Given the description of an element on the screen output the (x, y) to click on. 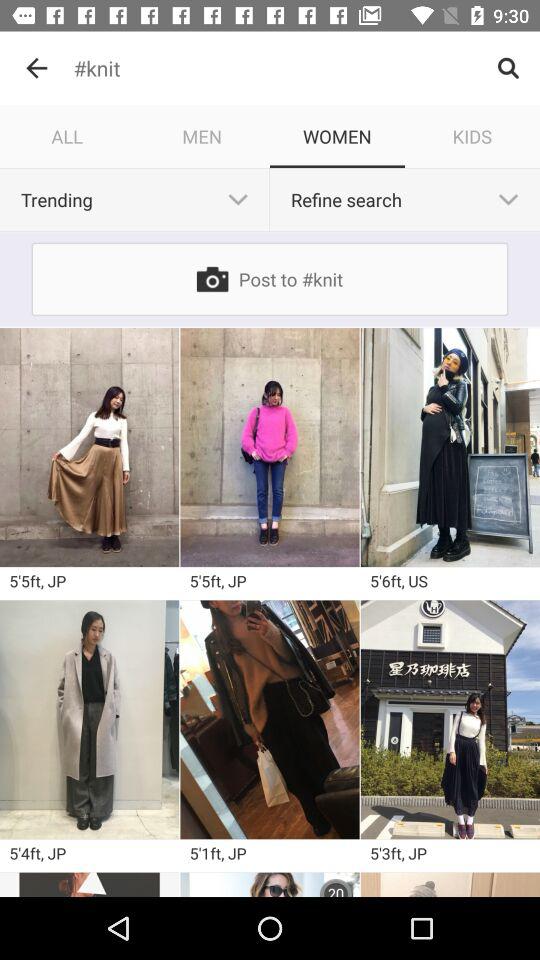
launch the item to the left of men icon (67, 136)
